Given the description of an element on the screen output the (x, y) to click on. 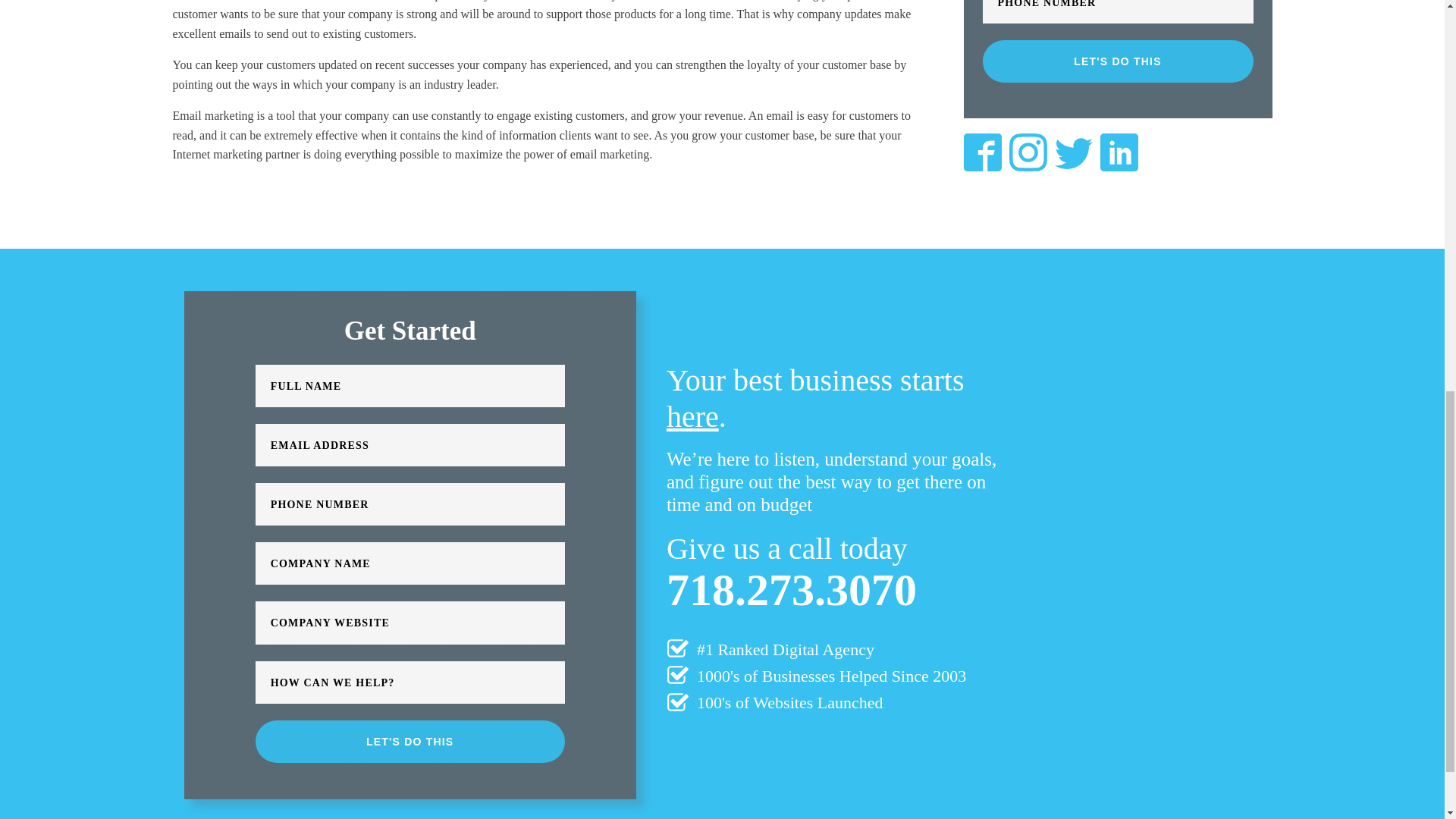
Let's Do This (410, 741)
Let's Do This (1117, 61)
